Given the description of an element on the screen output the (x, y) to click on. 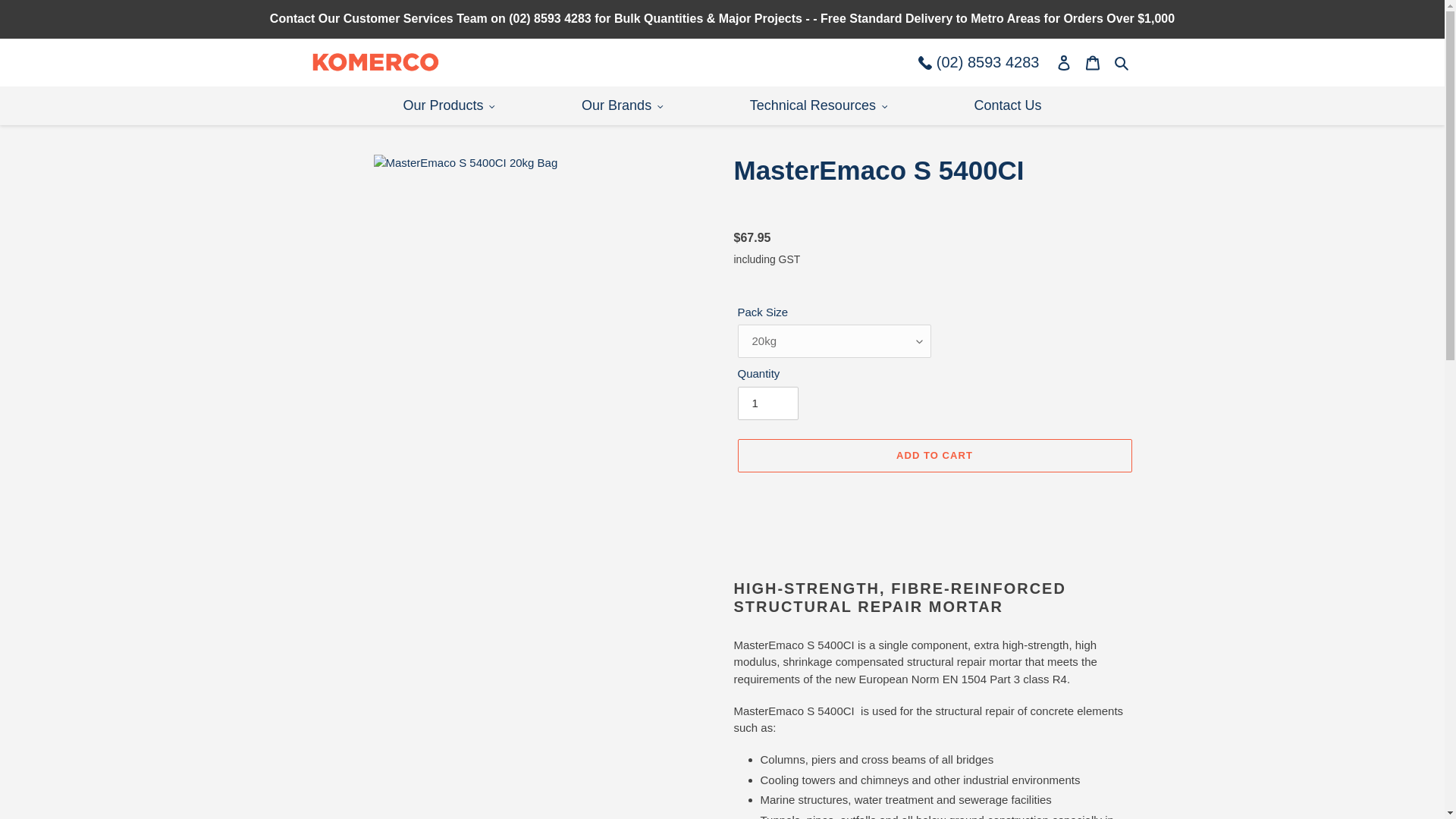
1 (766, 403)
Log in (1065, 61)
Cart (1094, 61)
Search (1121, 62)
